Given the description of an element on the screen output the (x, y) to click on. 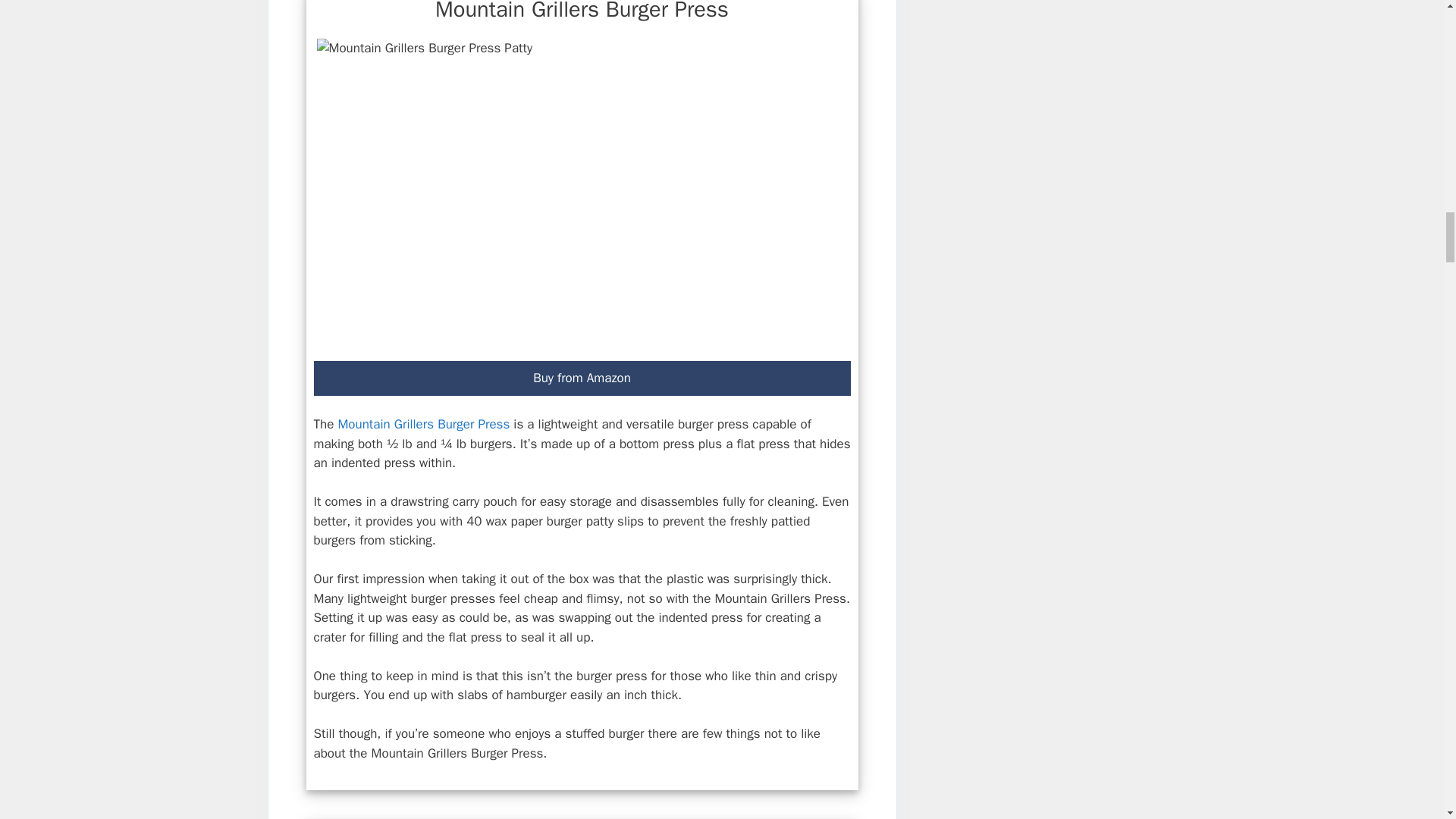
Mountain Grillers Burger Press (423, 424)
Buy from Amazon (582, 378)
